Given the description of an element on the screen output the (x, y) to click on. 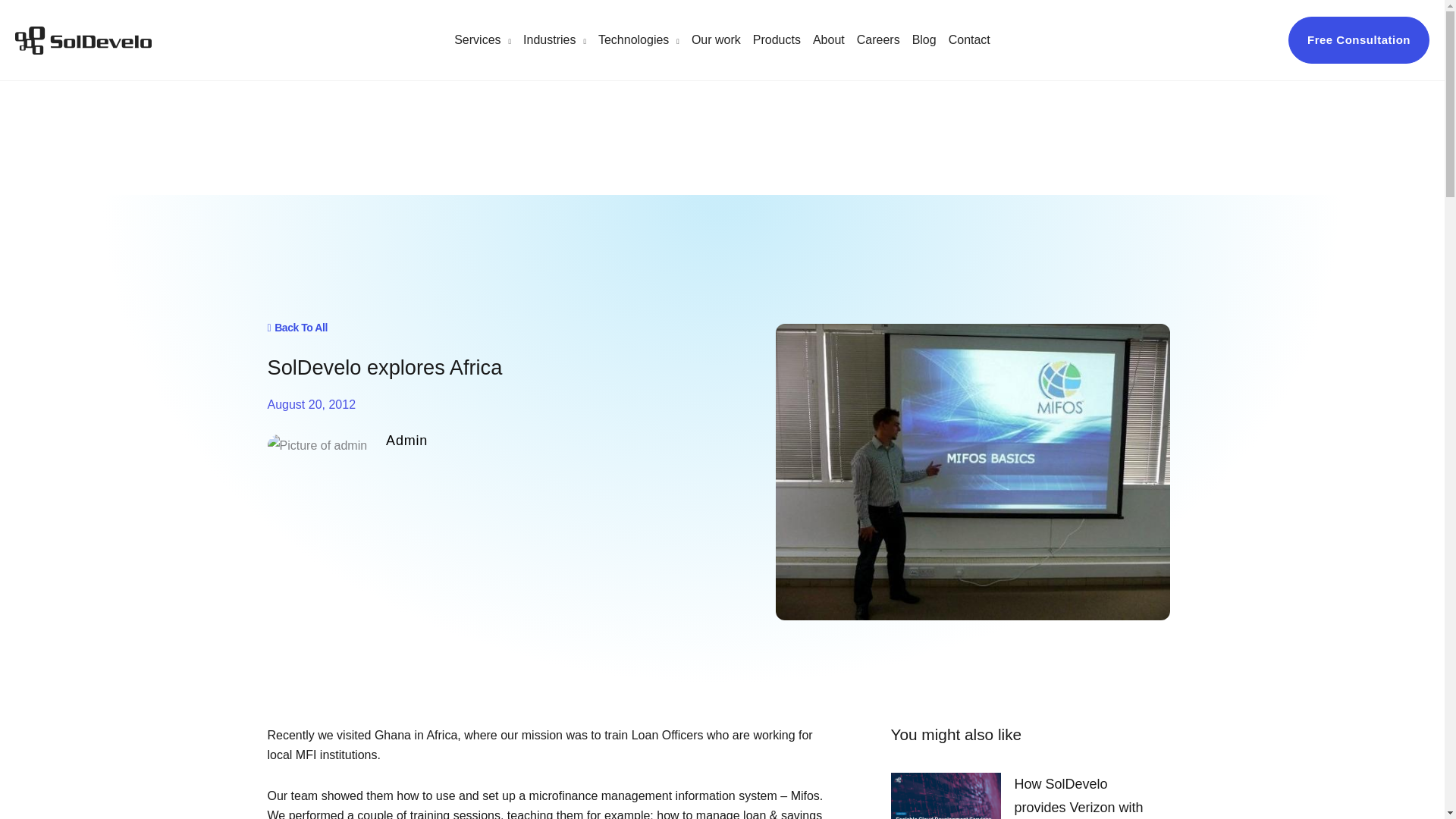
Industries (554, 39)
Technologies (638, 39)
Products (776, 39)
Services (482, 39)
Our work (715, 39)
Contact (968, 39)
Careers (877, 39)
Free Consultation (1358, 39)
